Given the description of an element on the screen output the (x, y) to click on. 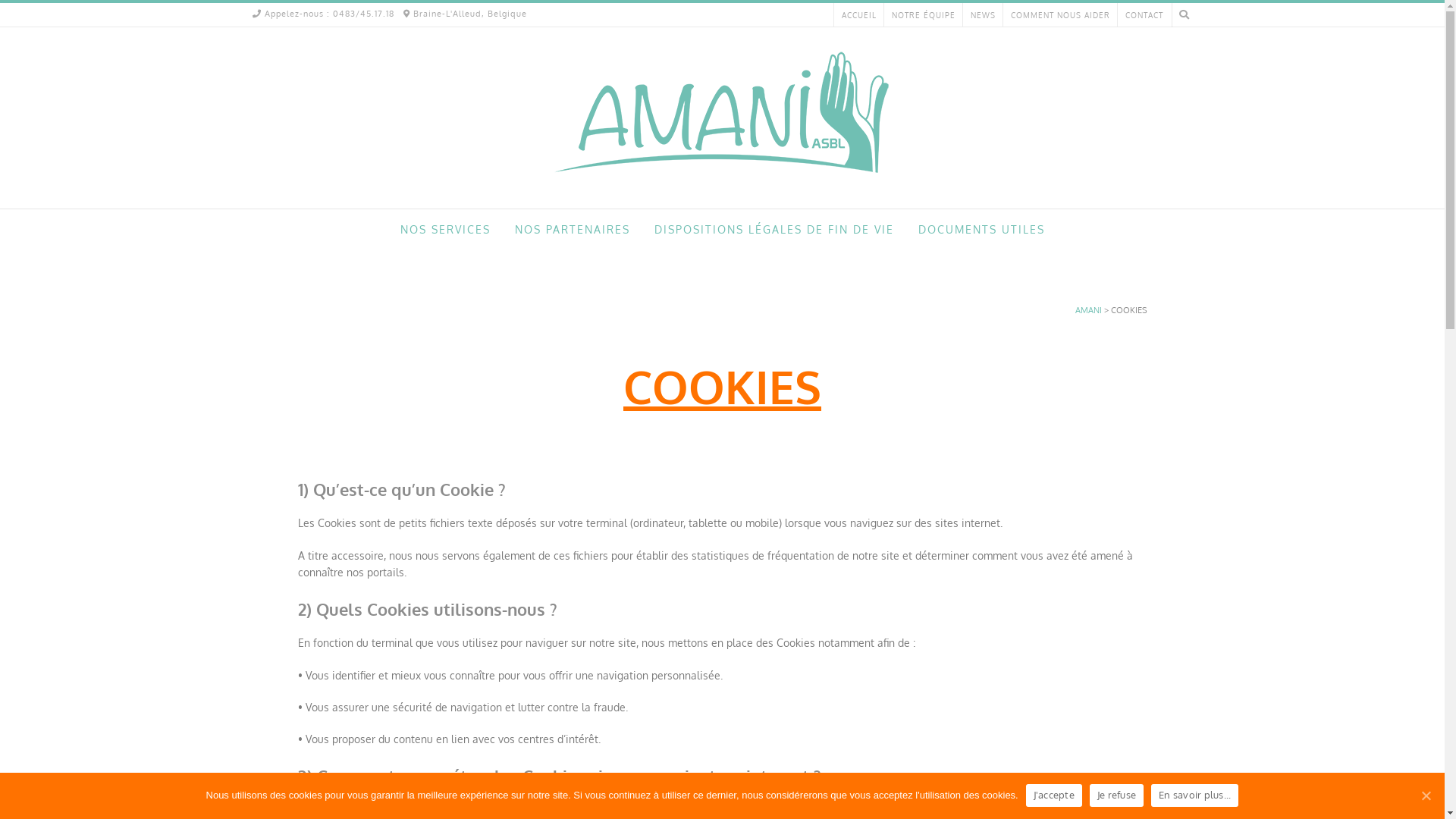
AMANI Element type: text (1088, 309)
En savoir plus... Element type: text (1194, 795)
DOCUMENTS UTILES Element type: text (980, 230)
J'accepte Element type: text (1054, 795)
CONTACT Element type: text (1143, 14)
Je refuse Element type: text (1116, 795)
COMMENT NOUS AIDER Element type: text (1059, 14)
NOS PARTENAIRES Element type: text (571, 230)
ACCUEIL Element type: text (859, 14)
NEWS Element type: text (983, 14)
NOS SERVICES Element type: text (445, 230)
